Given the description of an element on the screen output the (x, y) to click on. 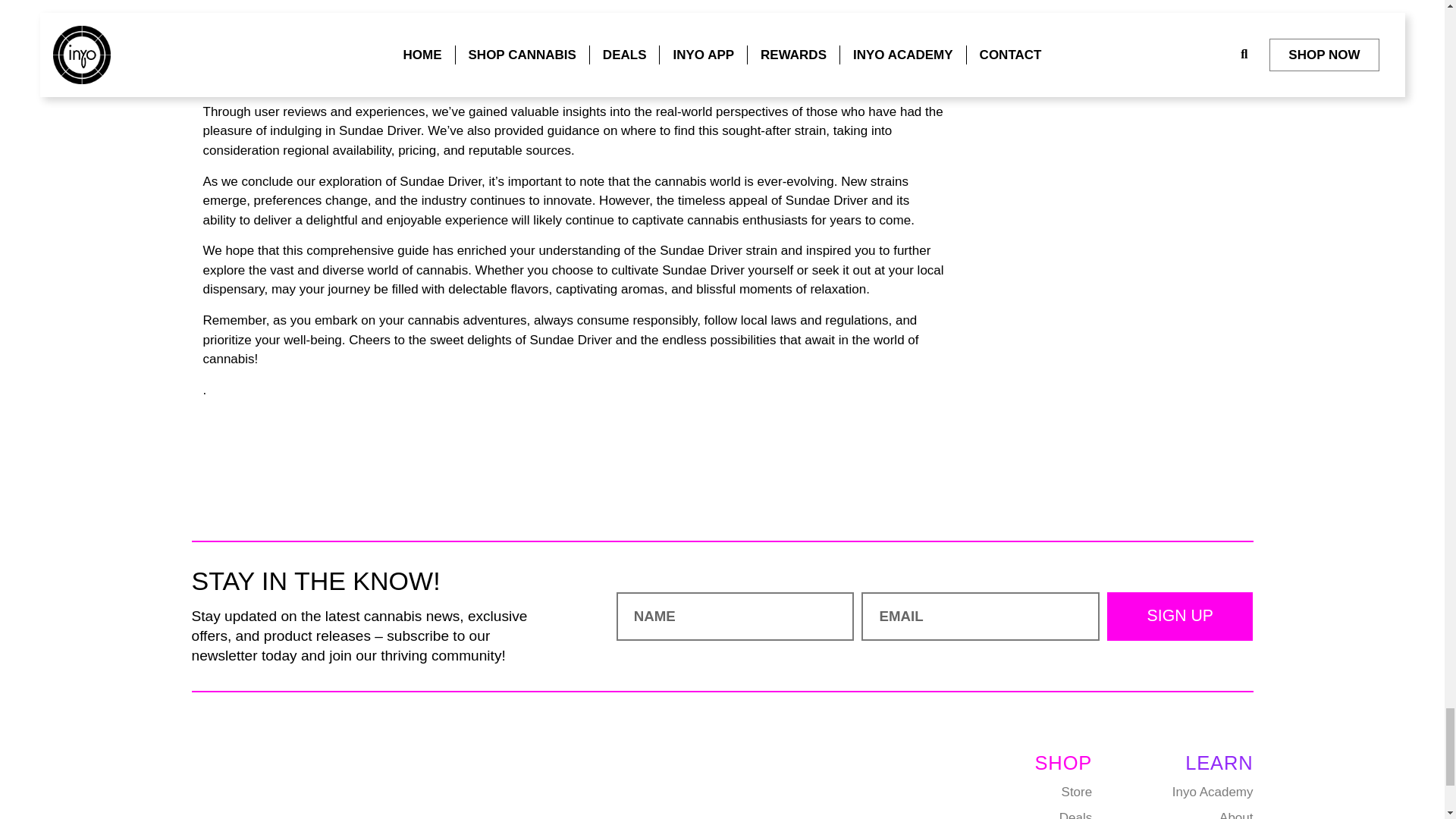
Store (1043, 791)
SIGN UP (1179, 616)
Deals (1043, 815)
